Given the description of an element on the screen output the (x, y) to click on. 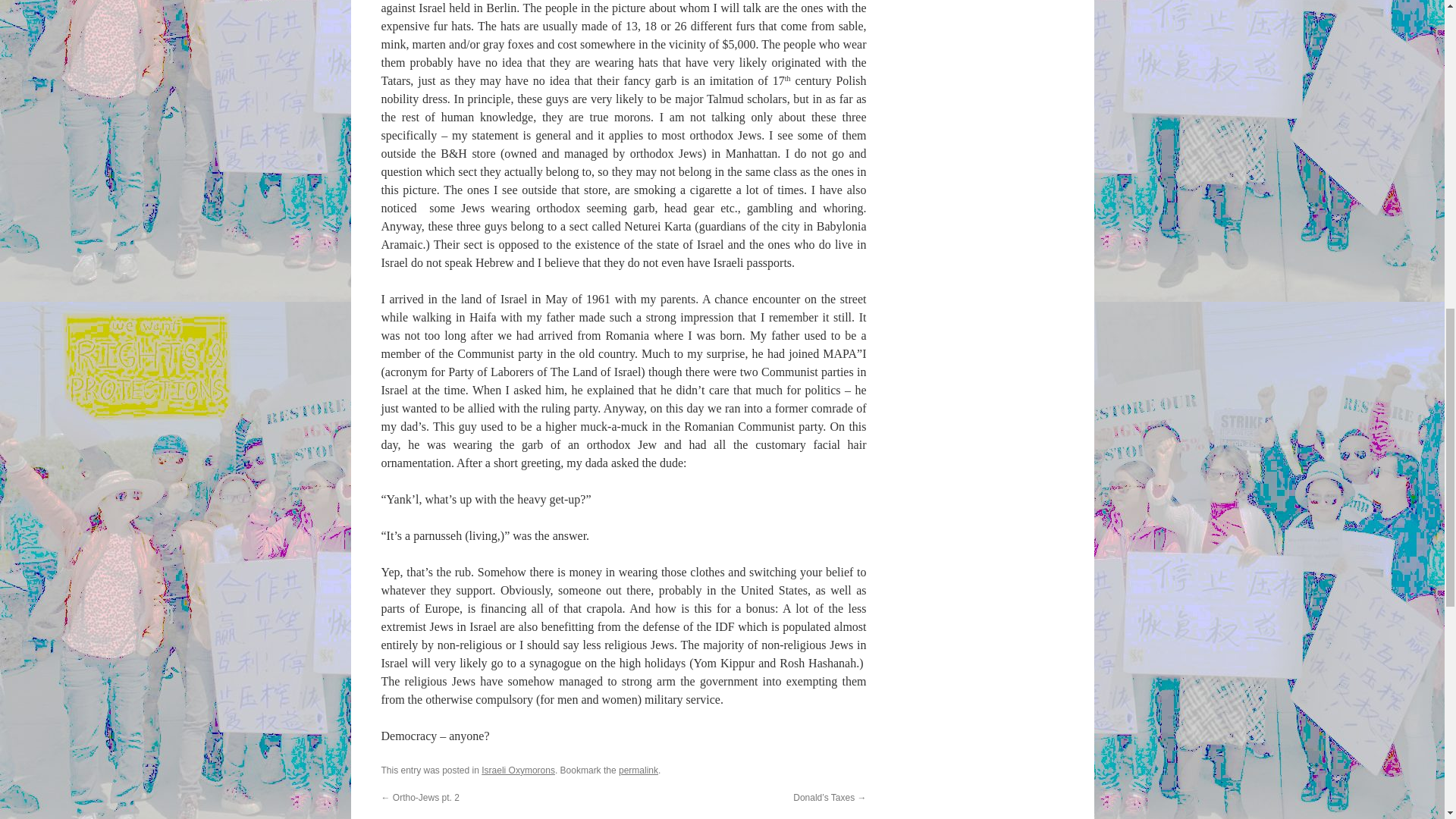
permalink (638, 769)
Israeli Oxymorons (517, 769)
Permalink to Ortho-Jews pt. 3 (638, 769)
